Given the description of an element on the screen output the (x, y) to click on. 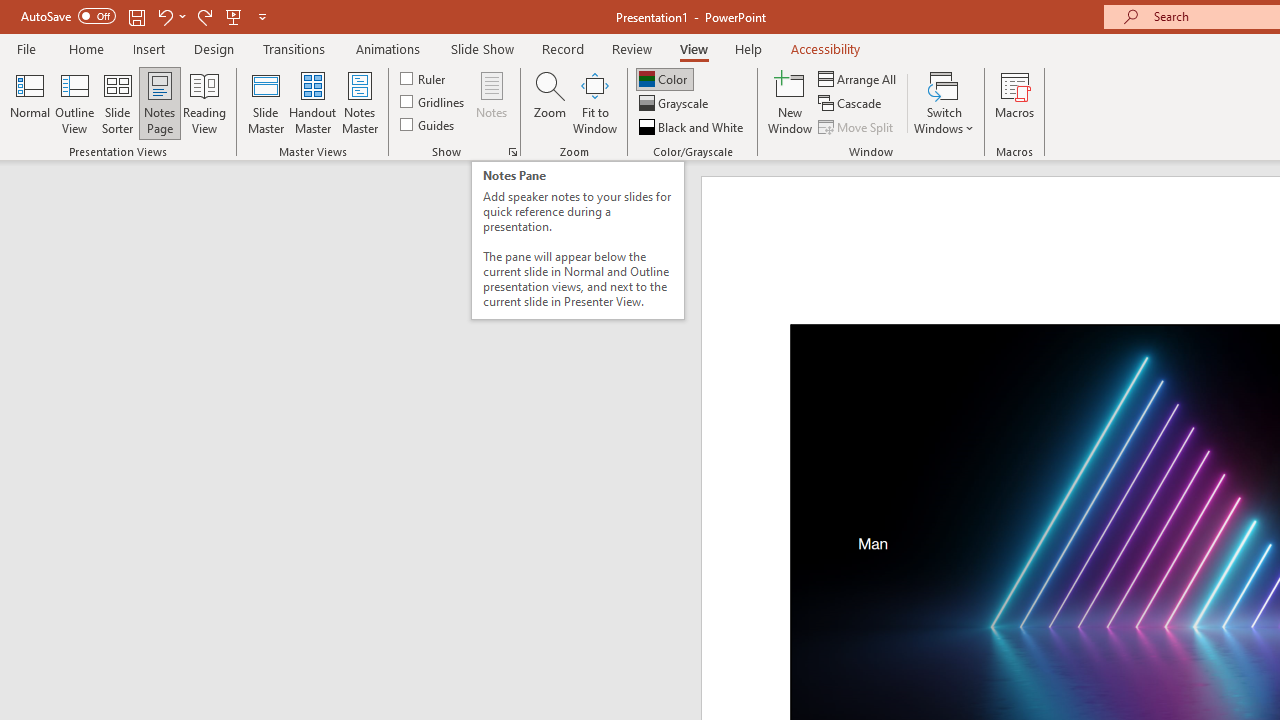
Zoom... (549, 102)
Guides (428, 124)
Notes Page (159, 102)
Ruler (423, 78)
Move Split (857, 126)
Fit to Window (594, 102)
Macros (1014, 102)
